Given the description of an element on the screen output the (x, y) to click on. 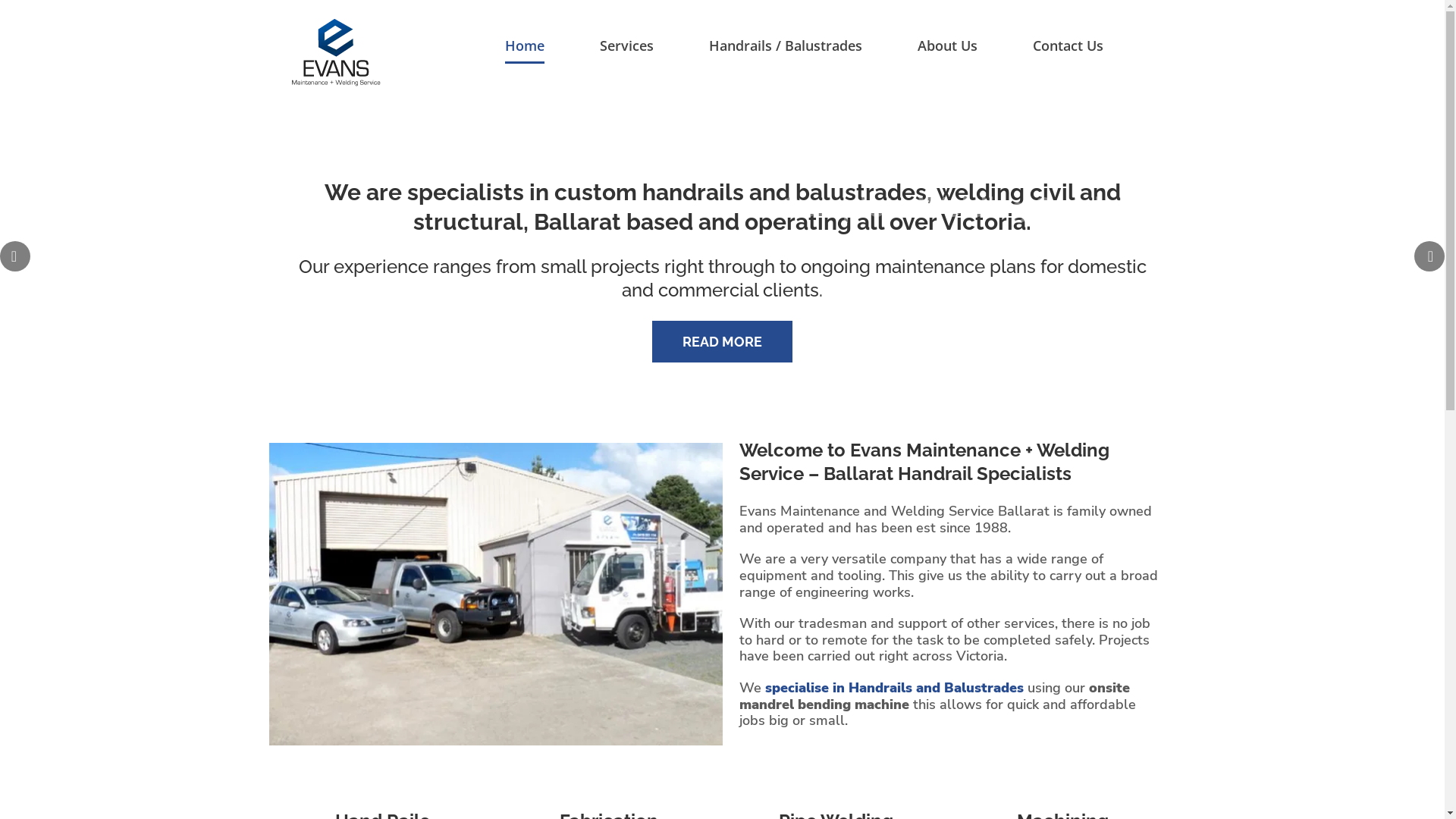
Home Element type: text (524, 45)
READ MORE Element type: text (722, 341)
welding-ballarat-Handrailing-specialists Element type: hover (494, 593)
Services Element type: text (625, 45)
About Us Element type: text (947, 45)
Handrails / Balustrades Element type: text (784, 45)
Read More Element type: text (380, 338)
Contact Us Element type: text (1067, 45)
See More Services Element type: text (26, 129)
specialise in Handrails and Balustrades Element type: text (894, 687)
